Given the description of an element on the screen output the (x, y) to click on. 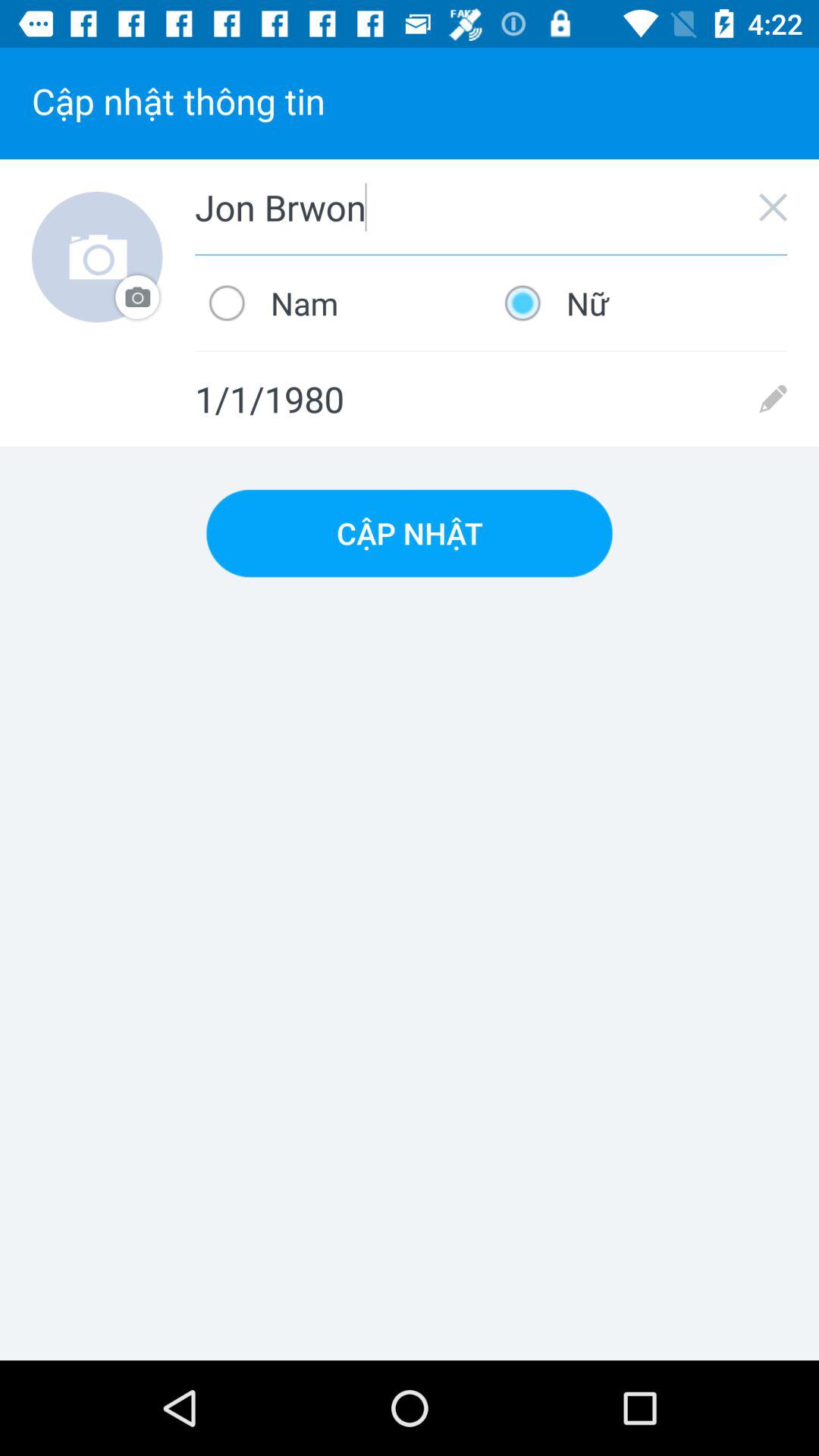
tap icon to the left of jon brwon icon (97, 257)
